Given the description of an element on the screen output the (x, y) to click on. 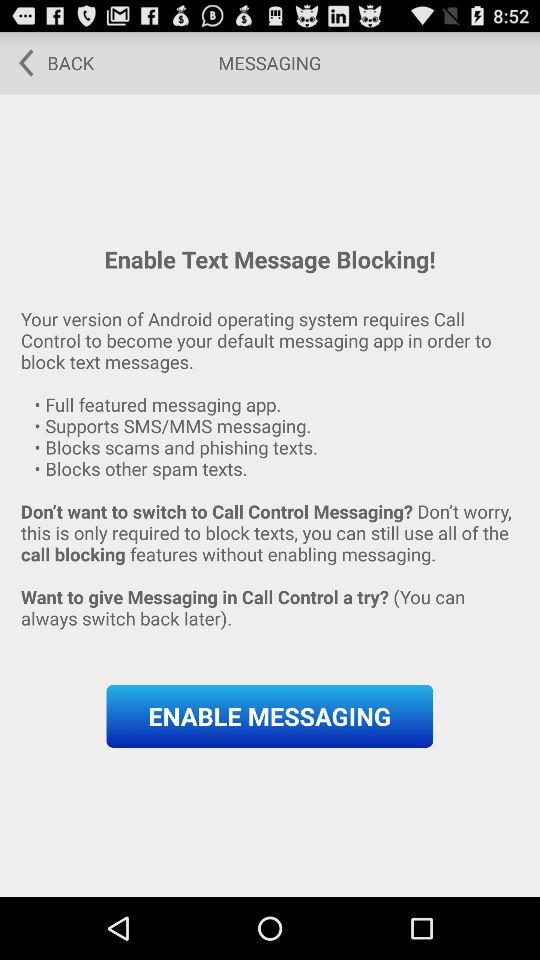
launch enable messaging item (269, 715)
